Given the description of an element on the screen output the (x, y) to click on. 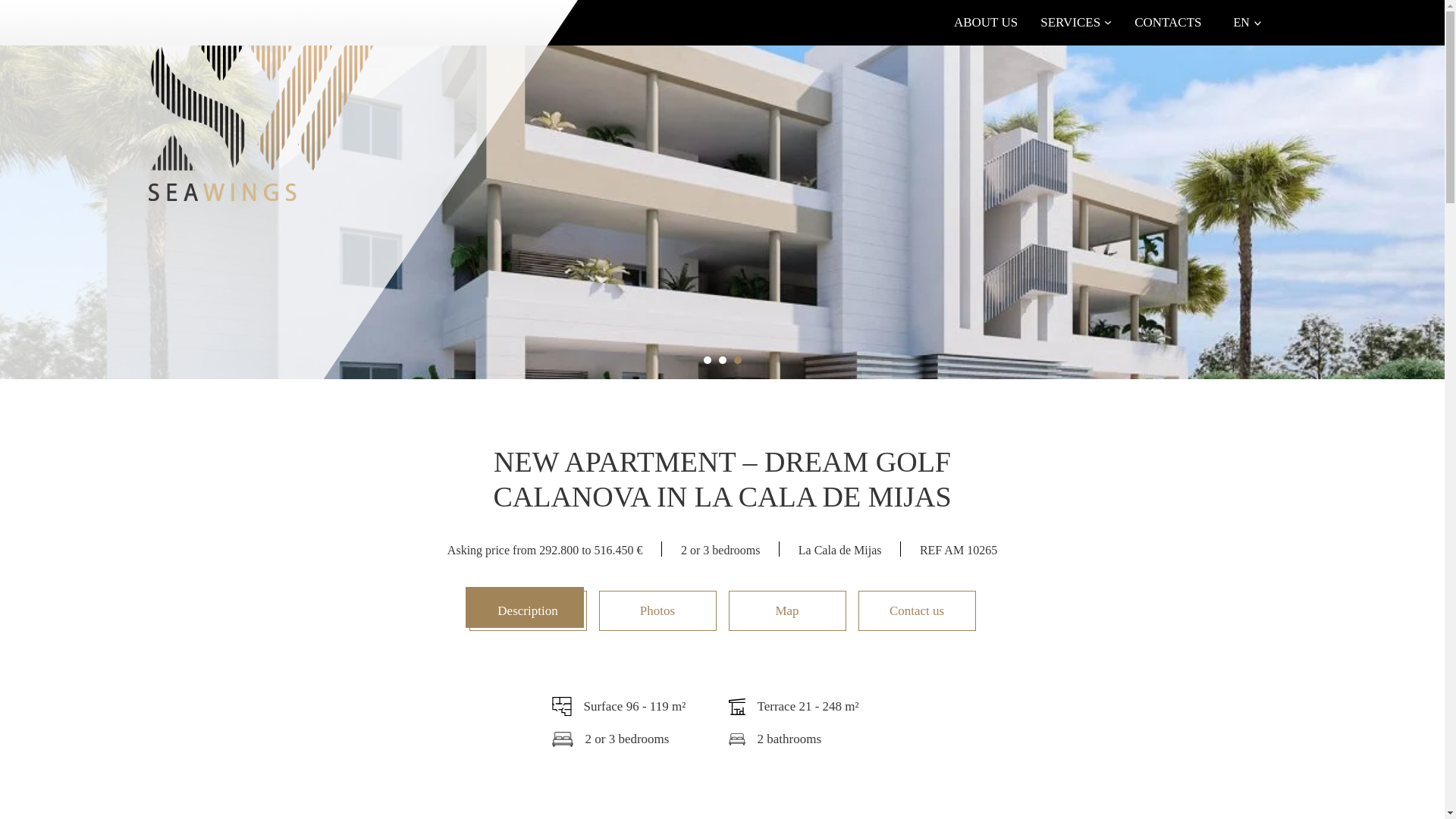
Contact us (917, 610)
Map (786, 610)
ABOUT US (985, 22)
English (1246, 22)
Description (527, 610)
Photos (657, 610)
CONTACTS (1167, 22)
EN (1246, 22)
